Given the description of an element on the screen output the (x, y) to click on. 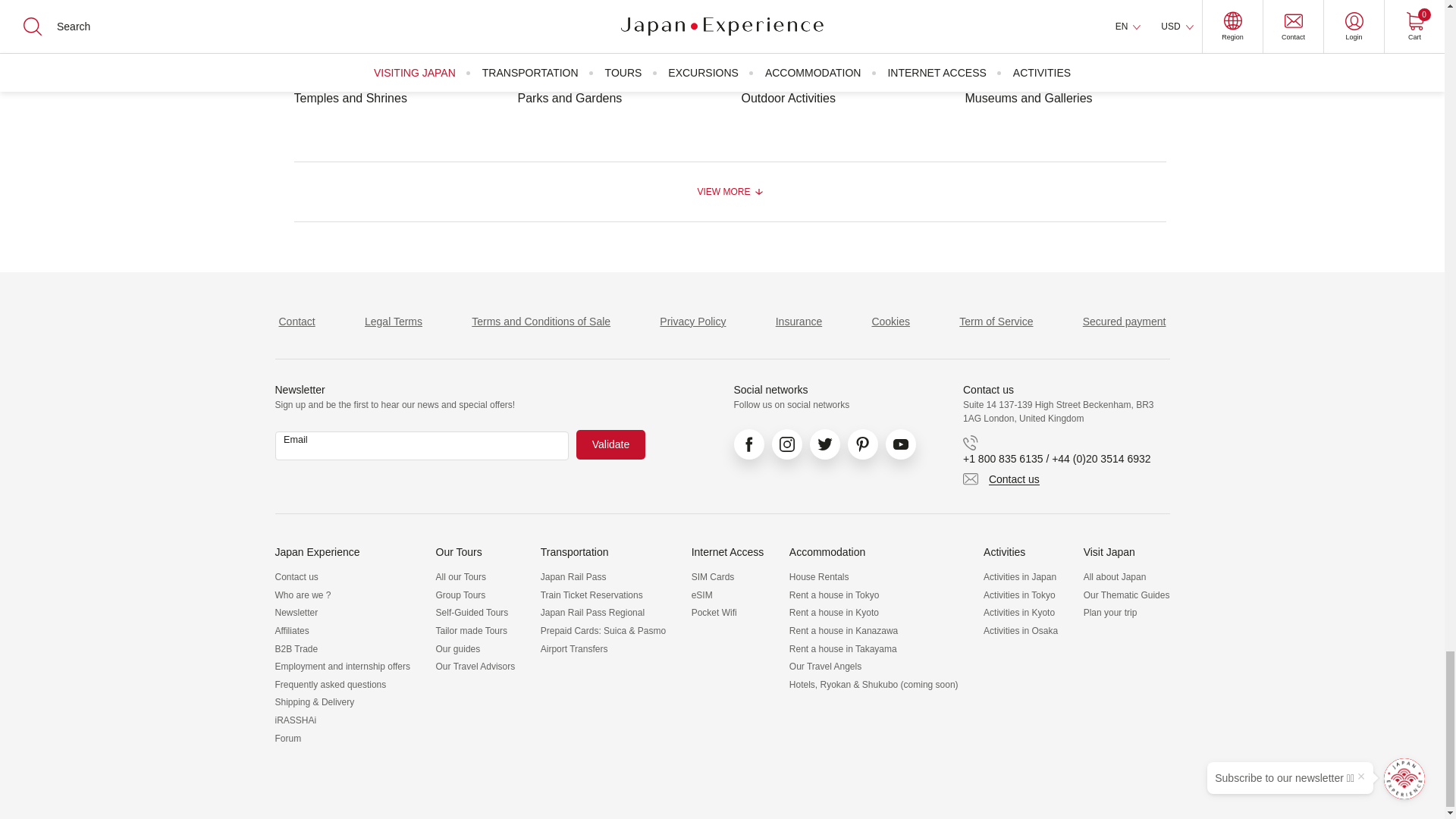
Validate (611, 444)
